Given the description of an element on the screen output the (x, y) to click on. 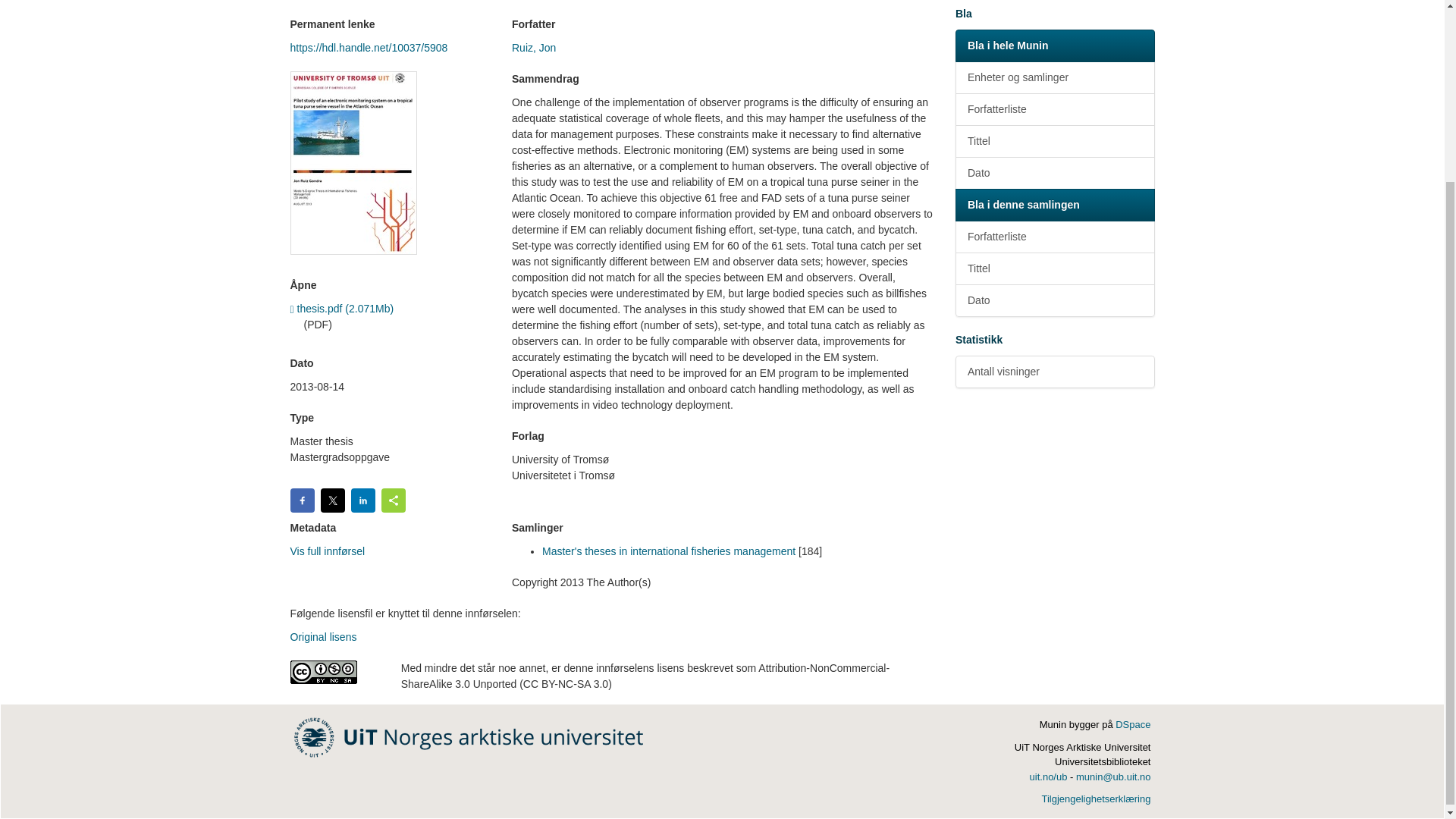
Tittel (1054, 268)
Enheter og samlinger (1054, 77)
Bla i denne samlingen (1054, 205)
Original lisens (322, 636)
Bla i hele Munin (1054, 45)
Dato (1054, 173)
Forfatterliste (1054, 109)
Forfatterliste (1054, 236)
Master's theses in international fisheries management (667, 551)
Ruiz, Jon (534, 47)
